Given the description of an element on the screen output the (x, y) to click on. 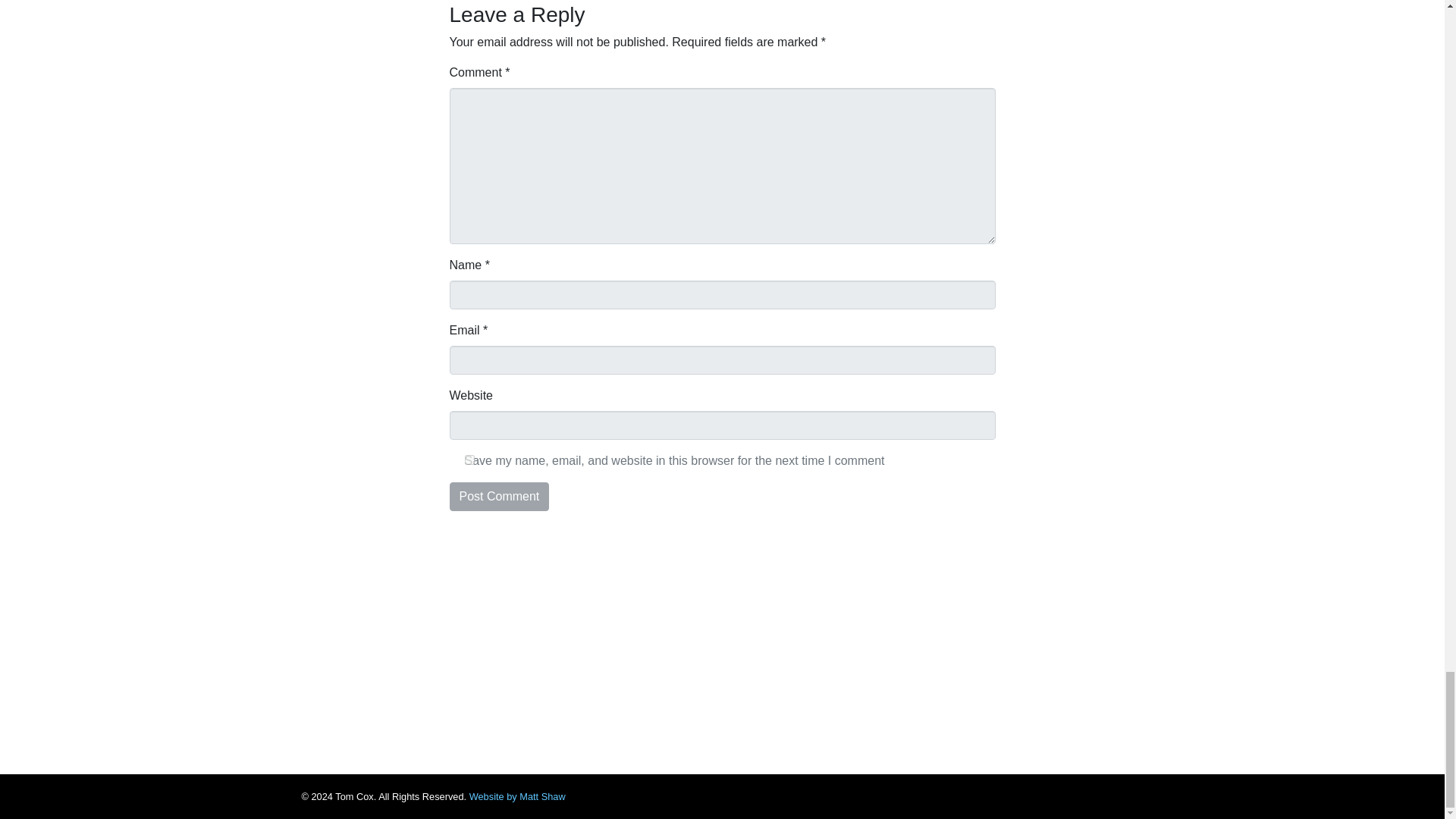
yes (469, 460)
Post Comment (498, 496)
Website by Matt Shaw (517, 796)
Post Comment (498, 496)
